Given the description of an element on the screen output the (x, y) to click on. 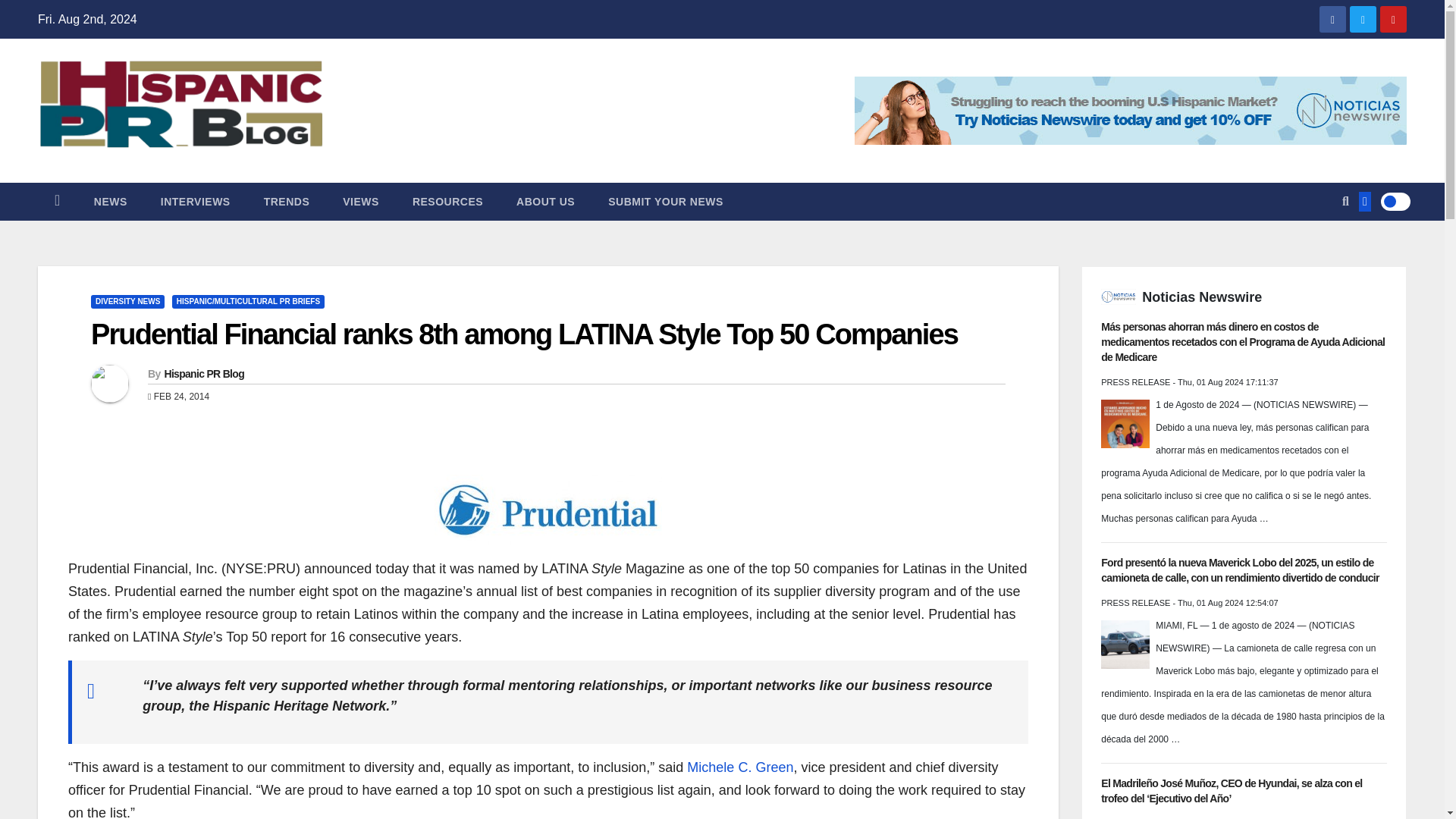
VIEWS (361, 201)
Trends (286, 201)
Home (57, 201)
INTERVIEWS (195, 201)
TRENDS (286, 201)
News (110, 201)
Interviews (195, 201)
RESOURCES (447, 201)
NEWS (110, 201)
